Given the description of an element on the screen output the (x, y) to click on. 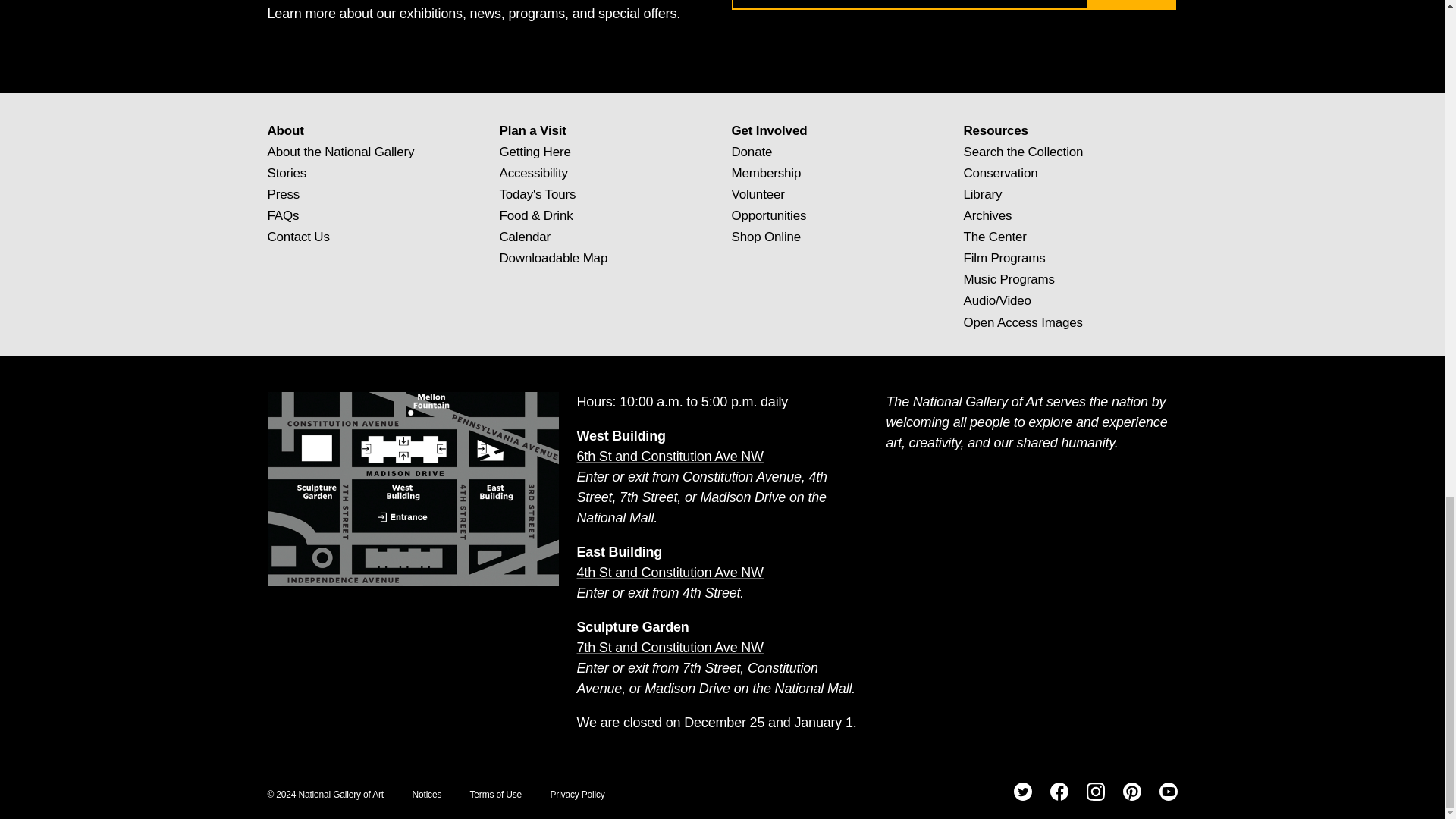
Sign Up (1130, 4)
